Given the description of an element on the screen output the (x, y) to click on. 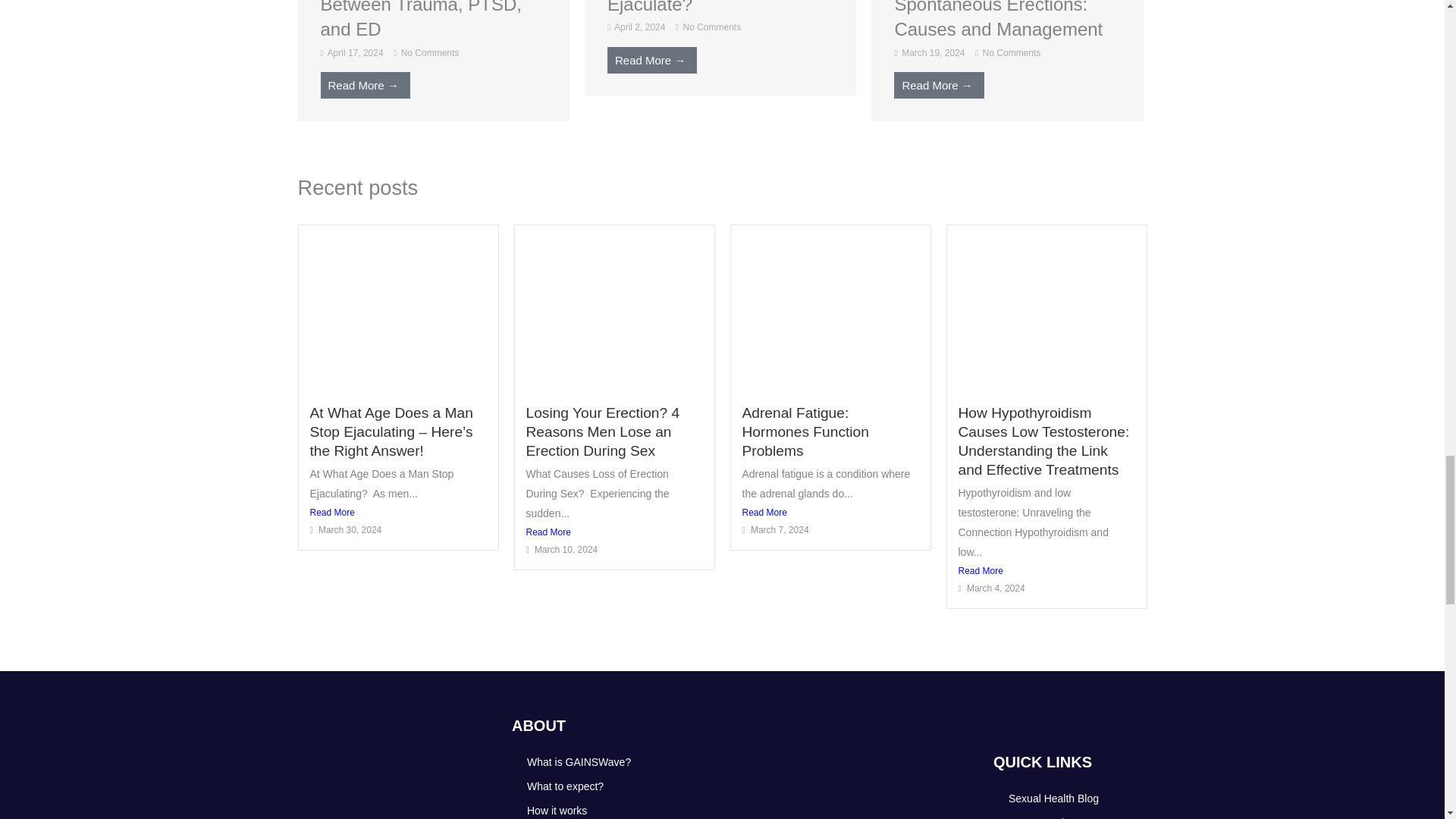
Adrenal Fatigue: Hormones Function Problems (804, 431)
